Given the description of an element on the screen output the (x, y) to click on. 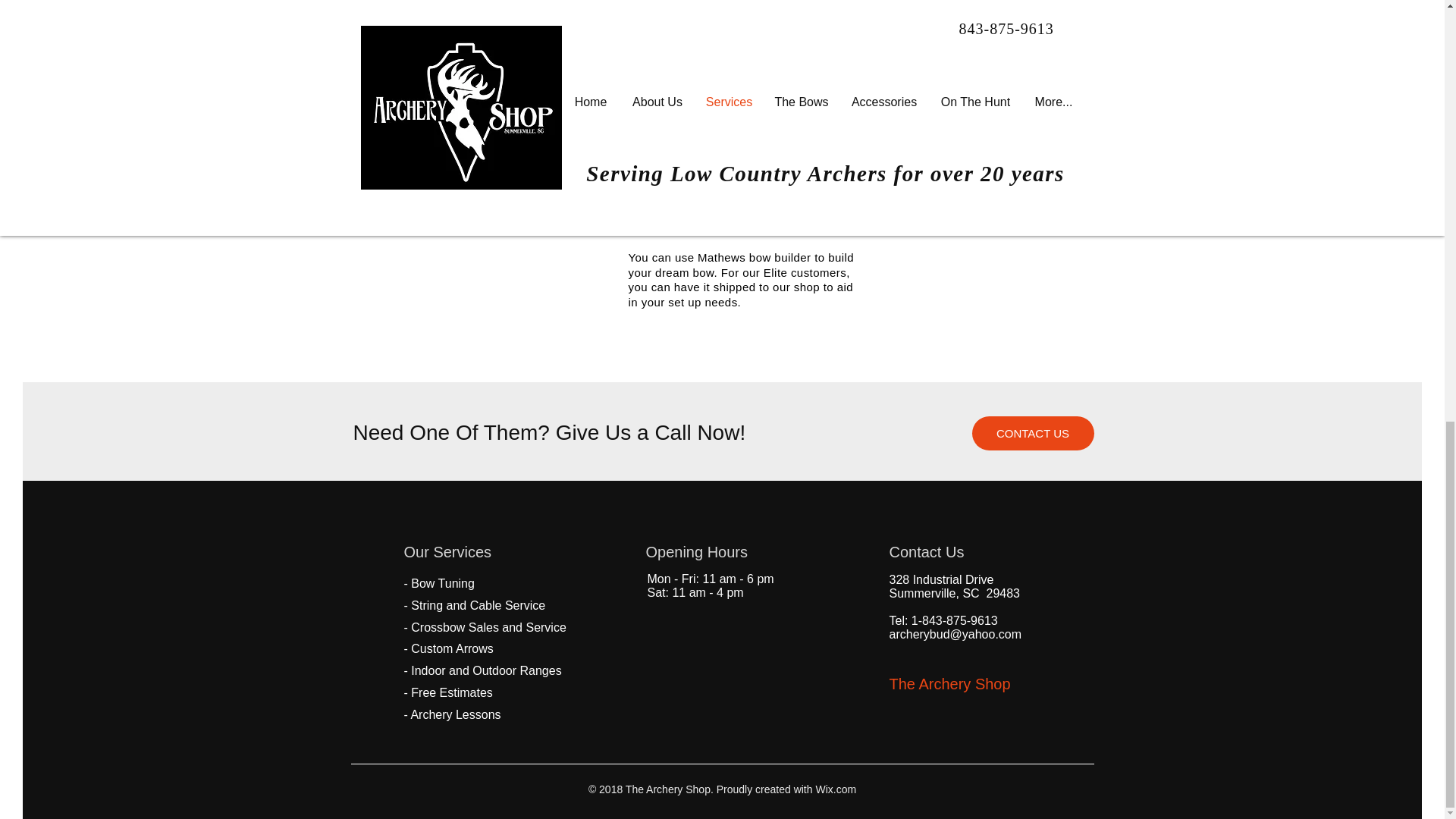
CONTACT US (1033, 433)
The Archery Shop (949, 683)
 Wix.com (834, 788)
